Given the description of an element on the screen output the (x, y) to click on. 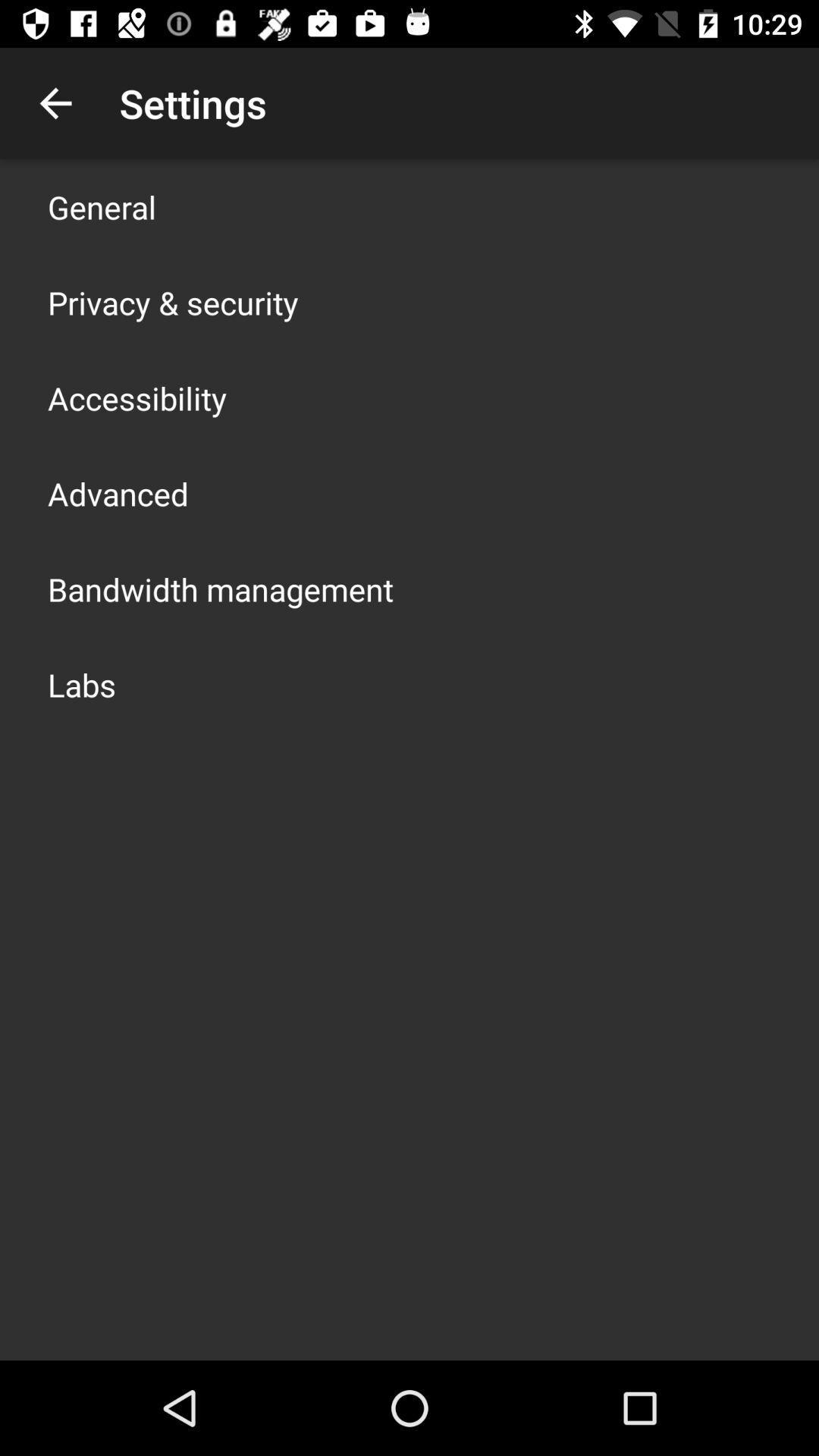
jump until the bandwidth management (220, 588)
